Given the description of an element on the screen output the (x, y) to click on. 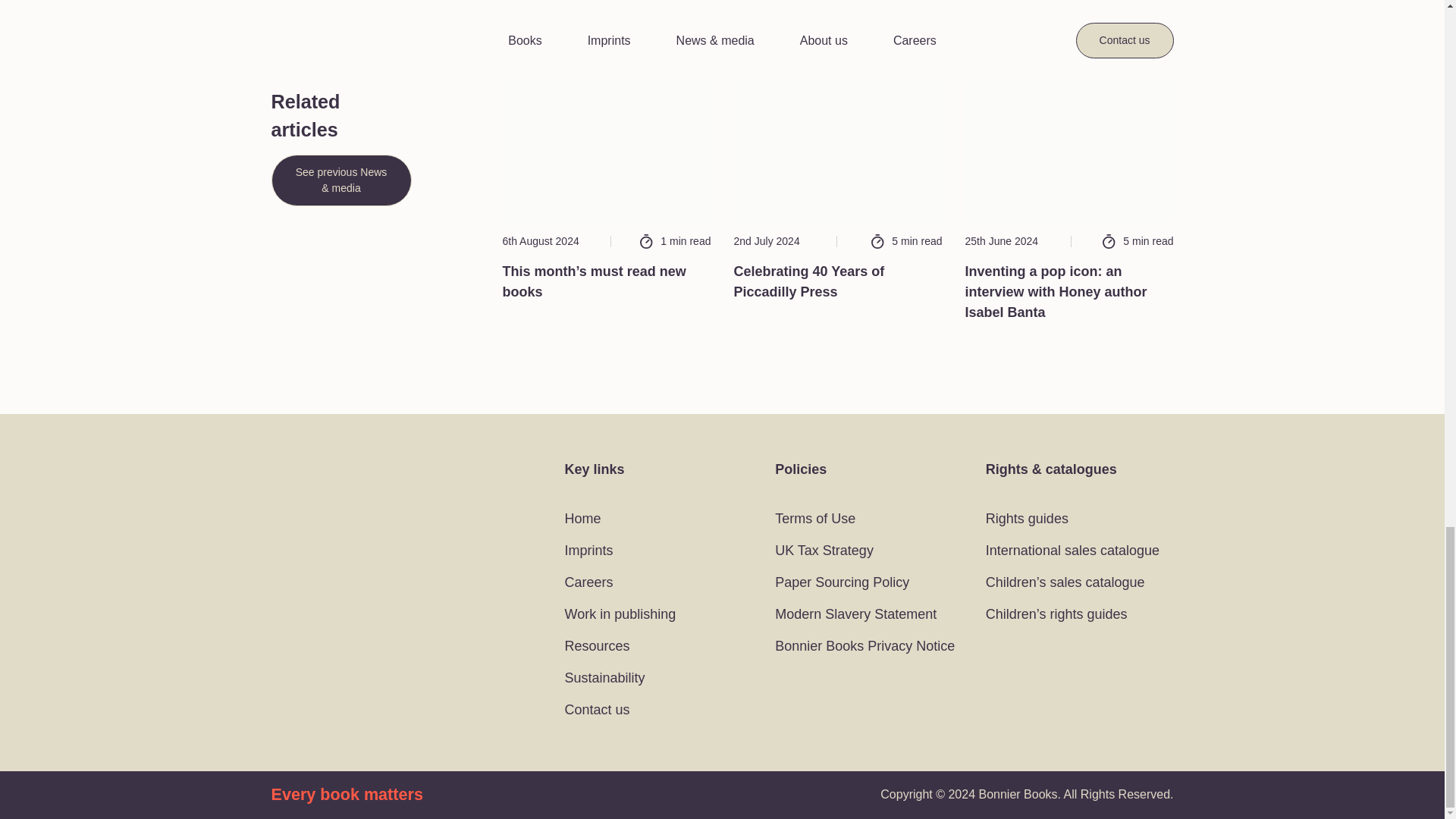
Sustainability  (605, 678)
Bonnier Books Privacy Notice (864, 646)
Work in publishing (619, 614)
Terms of Use (815, 518)
Modern Slavery Statement (855, 614)
Click to visit the Bonnier Books Instagram page (315, 525)
Paper Sourcing Policy (841, 582)
Home (581, 518)
Click to visit the Bonnier Books Twitter page (282, 525)
UK Tax Strategy (823, 550)
